Given the description of an element on the screen output the (x, y) to click on. 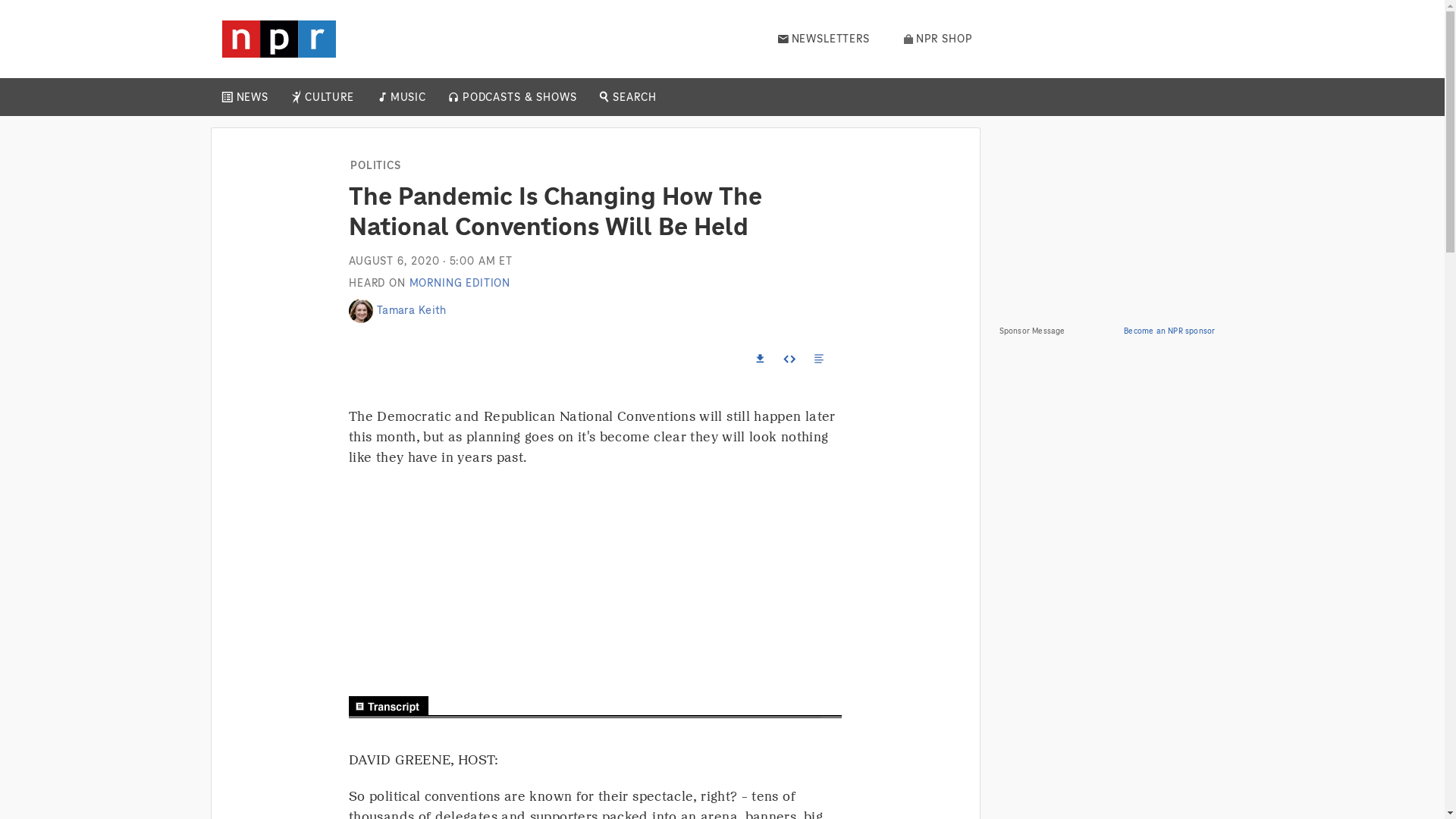
NEWSLETTERS (823, 38)
CULTURE (328, 96)
NPR SHOP (938, 38)
MUSIC (407, 96)
NEWS (251, 96)
